Given the description of an element on the screen output the (x, y) to click on. 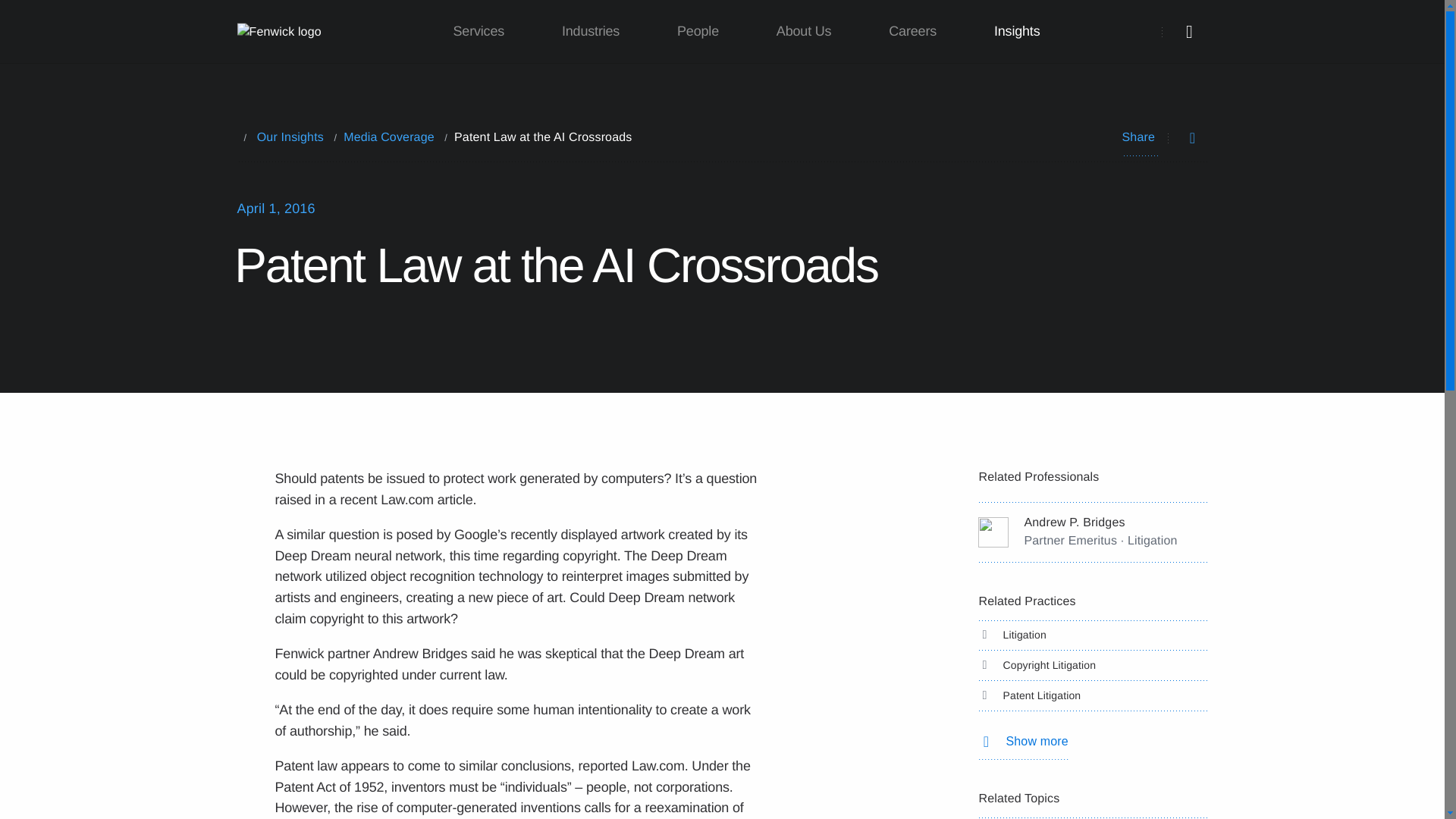
Services (478, 31)
search icon (1188, 31)
